Given the description of an element on the screen output the (x, y) to click on. 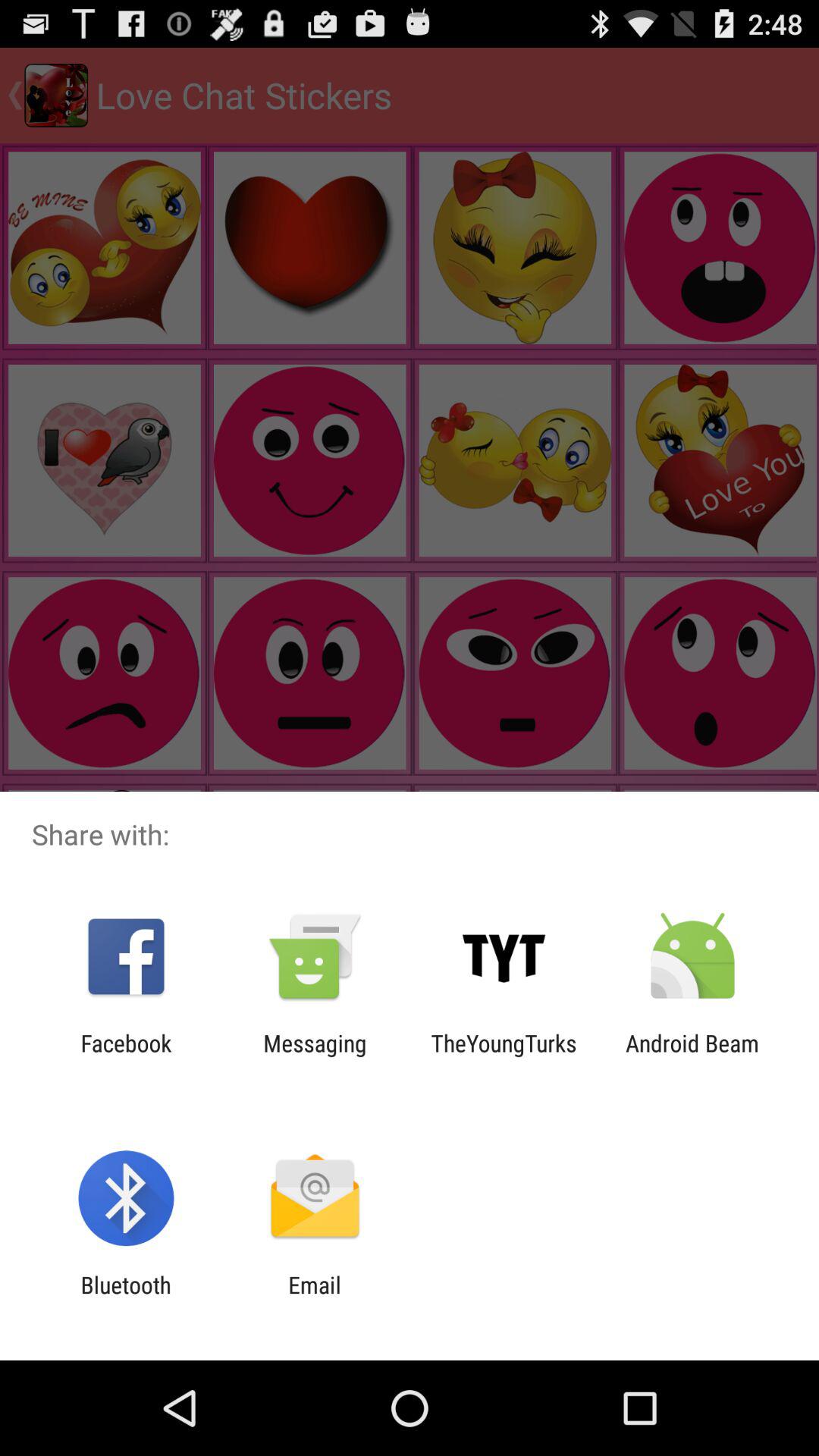
tap icon to the left of the android beam (503, 1056)
